Given the description of an element on the screen output the (x, y) to click on. 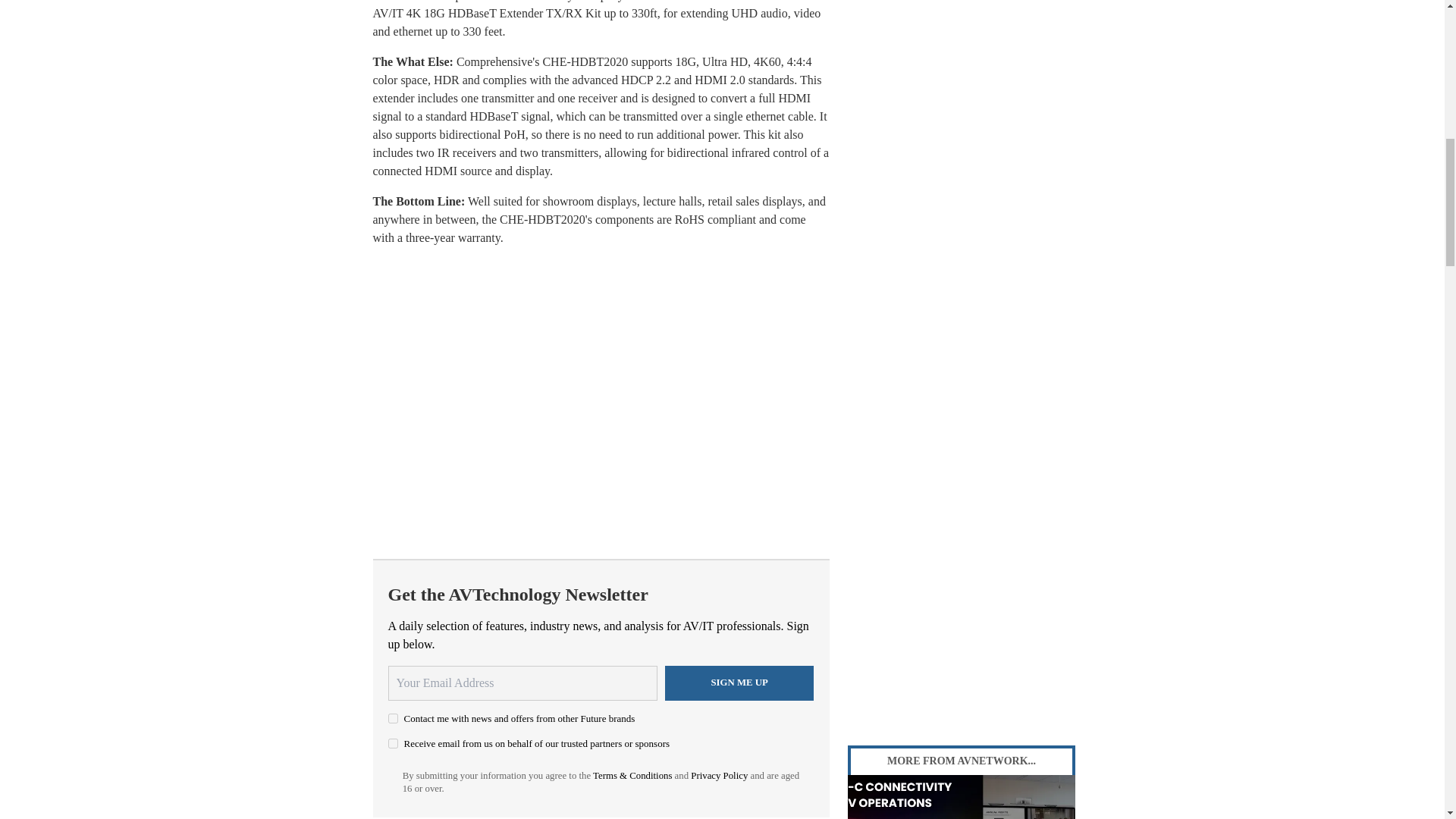
USB-C Cables are Not Created Equal (961, 796)
Sign me up (739, 683)
Sign me up (739, 683)
on (392, 718)
Privacy Policy (719, 775)
on (392, 743)
